Given the description of an element on the screen output the (x, y) to click on. 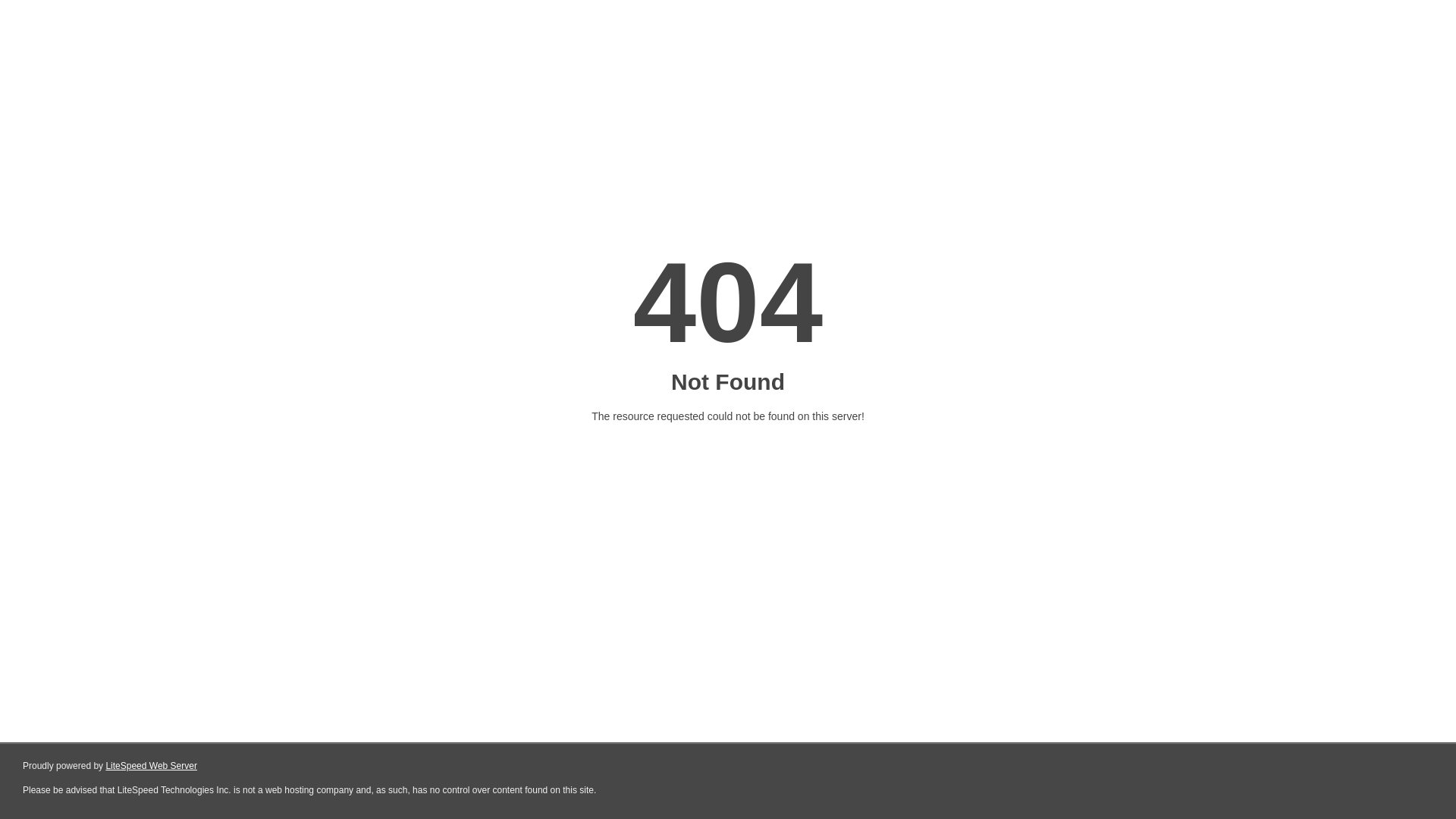
LiteSpeed Web Server Element type: text (151, 765)
